Given the description of an element on the screen output the (x, y) to click on. 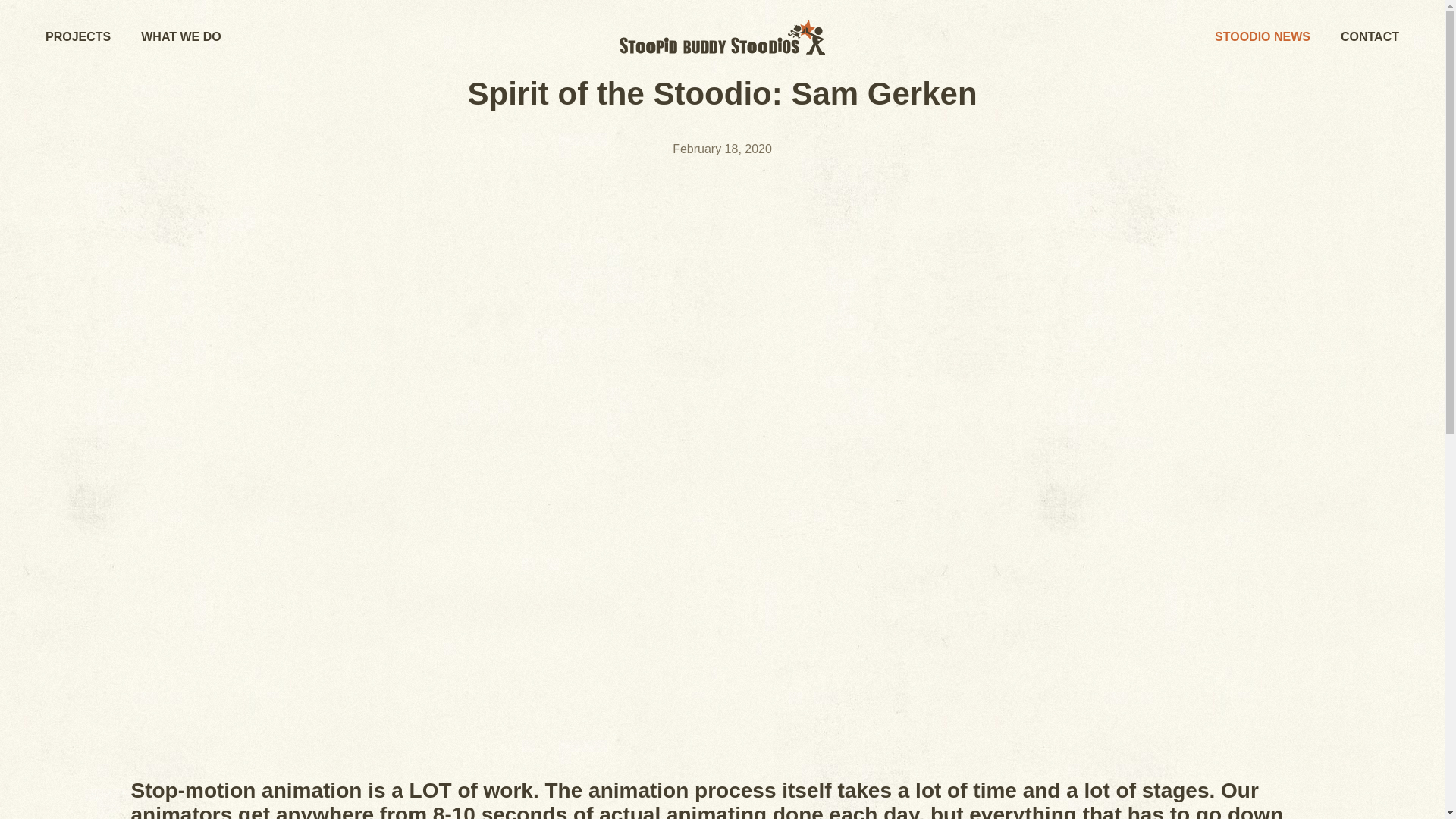
PROJECTS (77, 36)
WHAT WE DO (181, 36)
CONTACT (1369, 36)
STOODIO NEWS (1262, 36)
